Given the description of an element on the screen output the (x, y) to click on. 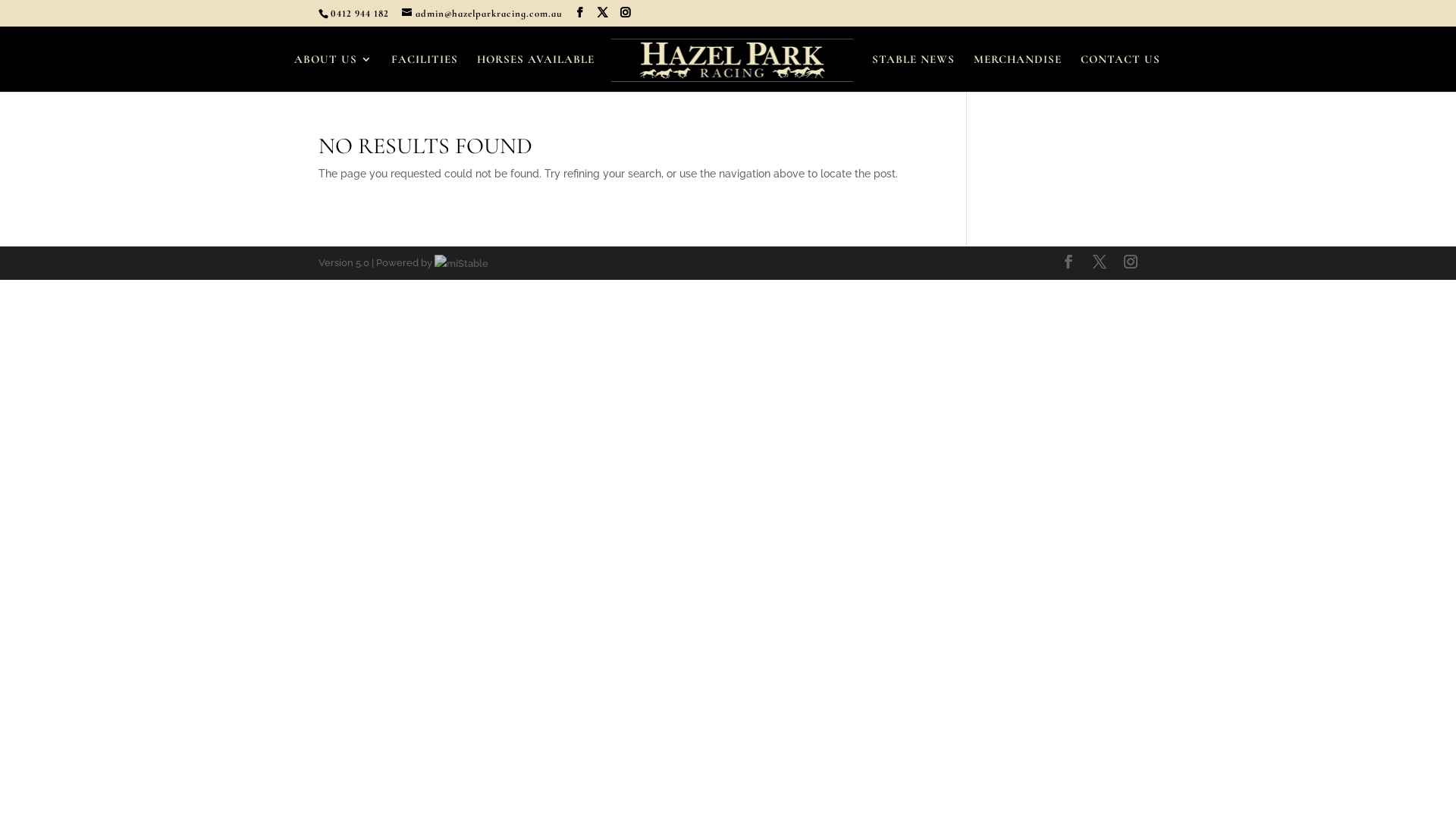
FACILITIES Element type: text (424, 72)
STABLE NEWS Element type: text (913, 72)
MERCHANDISE Element type: text (1017, 72)
admin@hazelparkracing.com.au Element type: text (481, 13)
ABOUT US Element type: text (333, 72)
HORSES AVAILABLE Element type: text (535, 72)
CONTACT US Element type: text (1120, 72)
0412 944 182 Element type: text (359, 13)
Horse Management Software Element type: hover (461, 262)
